Given the description of an element on the screen output the (x, y) to click on. 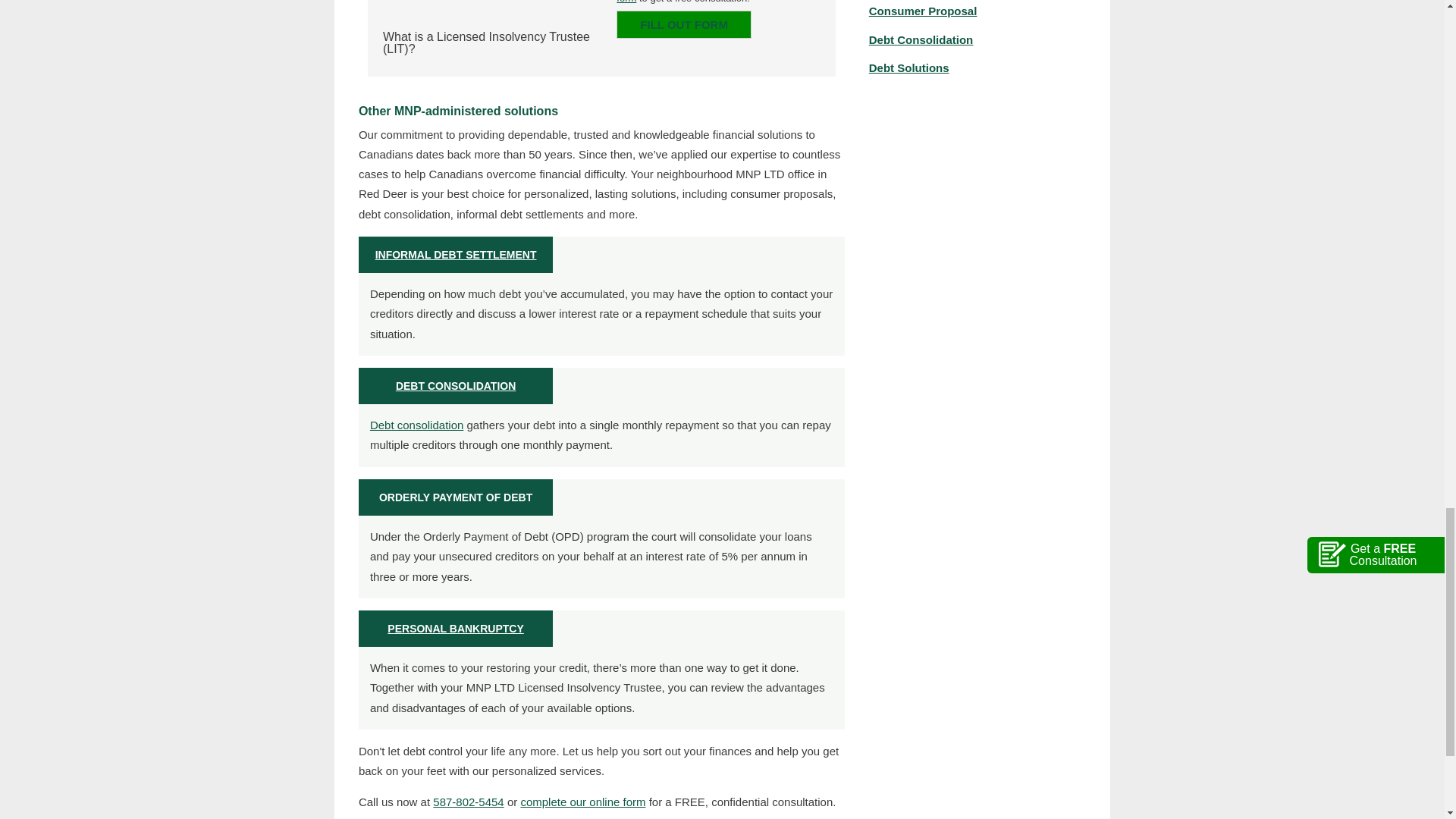
PERSONAL BANKRUPTCY (454, 628)
fill out our form (710, 2)
FILL OUT FORM (683, 24)
Debt consolidation (416, 424)
587-802-5454 (467, 801)
DEBT CONSOLIDATION (455, 386)
ORDERLY PAYMENT OF DEBT (455, 497)
INFORMAL DEBT SETTLEMENT (456, 254)
